Given the description of an element on the screen output the (x, y) to click on. 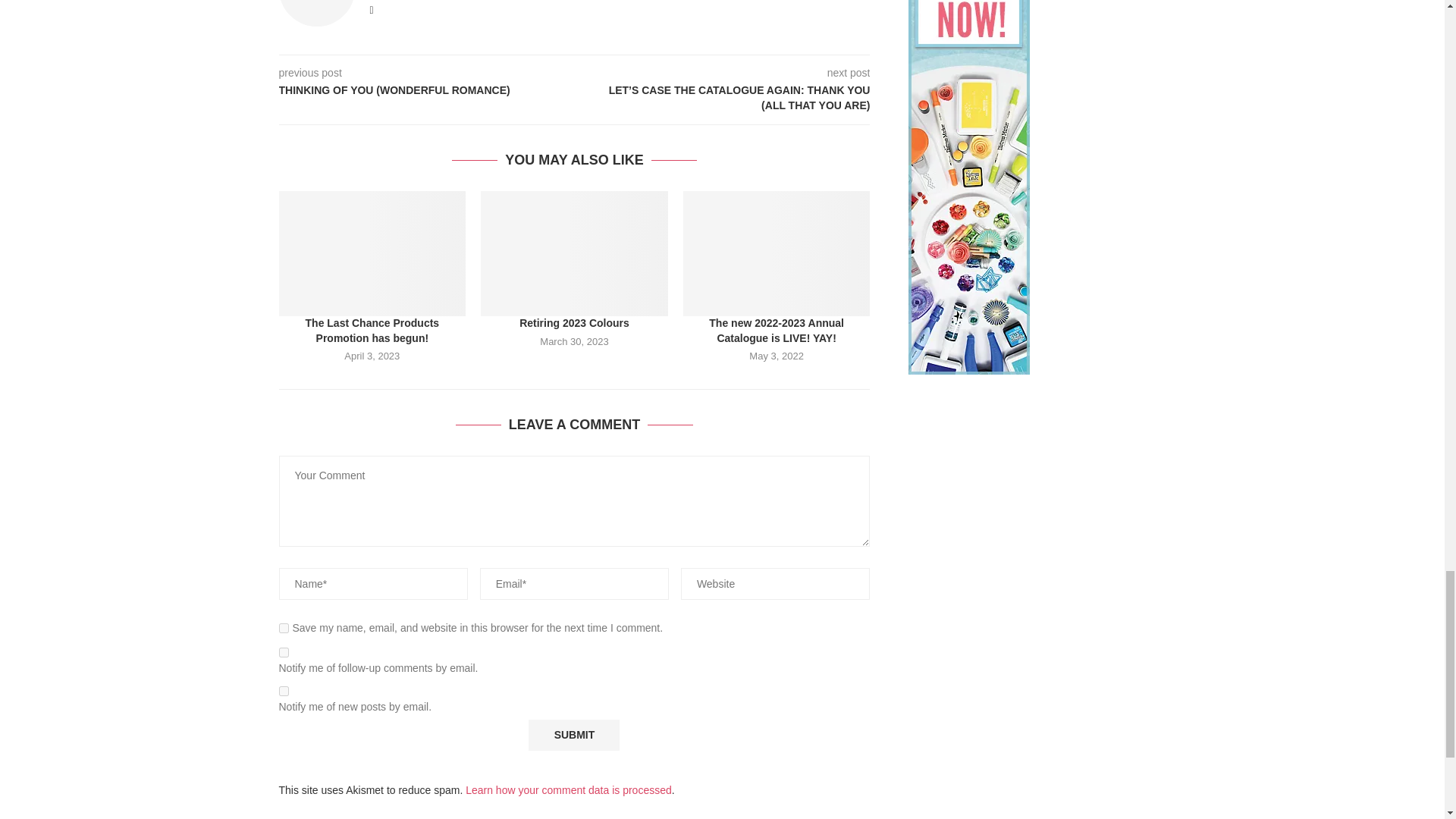
Submit (574, 735)
yes (283, 628)
subscribe (283, 691)
subscribe (283, 652)
The Last Chance Products Promotion has begun! (372, 252)
Retiring 2023 Colours (574, 252)
The new 2022-2023 Annual Catalogue is LIVE! YAY! (776, 252)
